Given the description of an element on the screen output the (x, y) to click on. 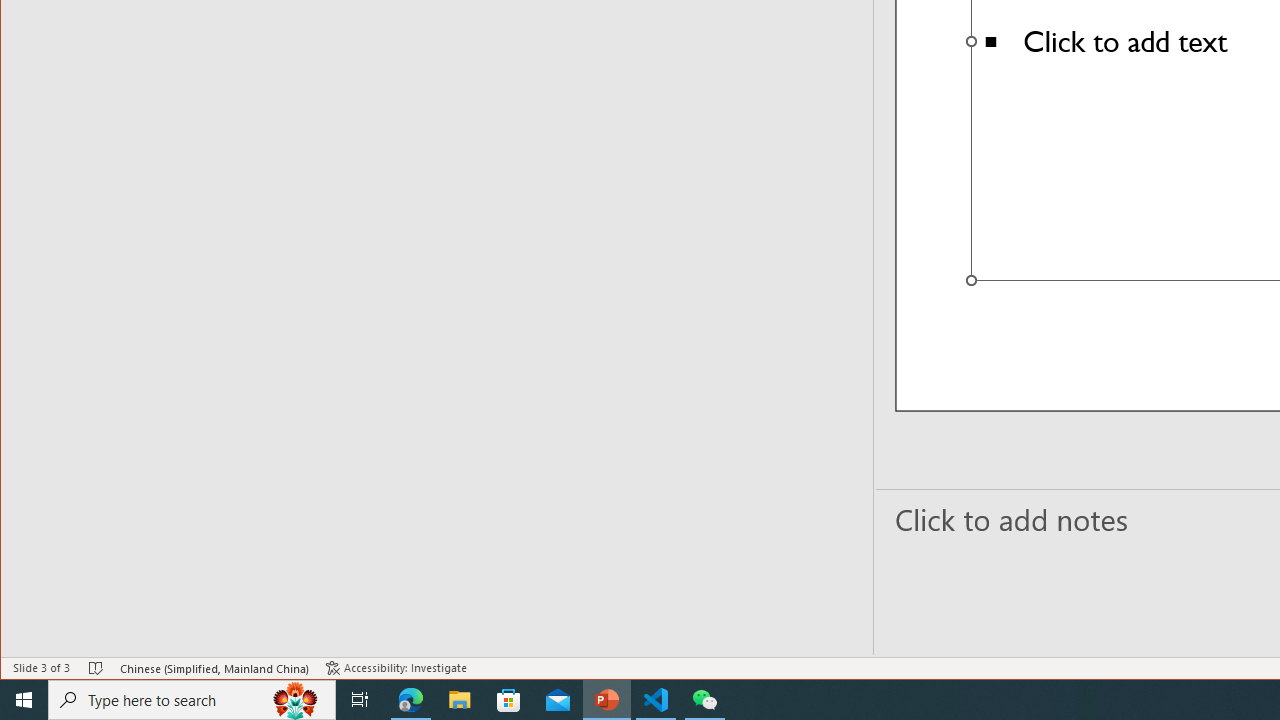
Visual Studio Code - 1 running window (656, 699)
File Explorer (460, 699)
PowerPoint - 1 running window (607, 699)
Task View (359, 699)
Search highlights icon opens search home window (295, 699)
Microsoft Edge - 1 running window (411, 699)
Accessibility Checker Accessibility: Investigate (395, 668)
WeChat - 1 running window (704, 699)
Start (24, 699)
Type here to search (191, 699)
Spell Check No Errors (96, 668)
Microsoft Store (509, 699)
